Given the description of an element on the screen output the (x, y) to click on. 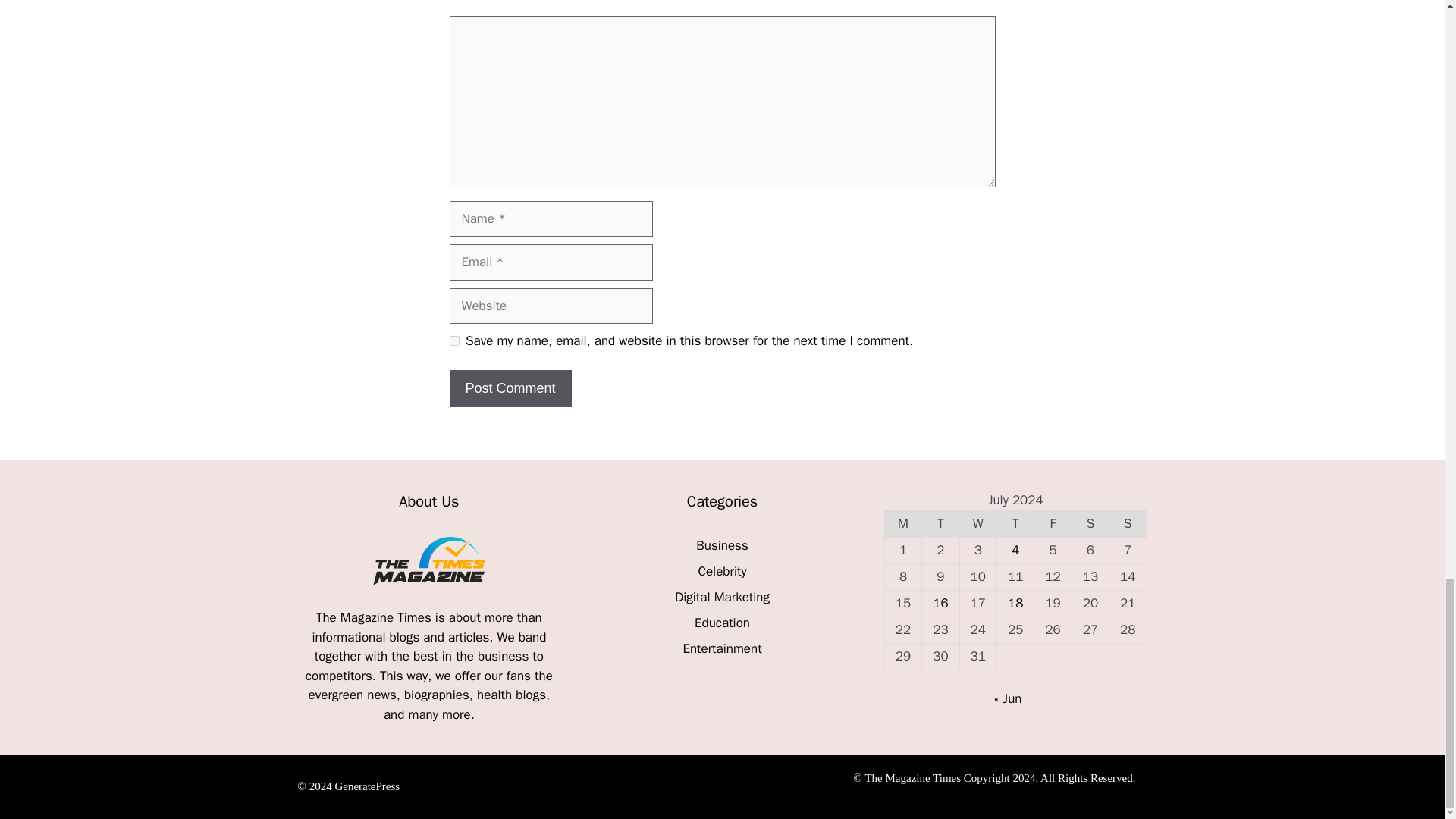
Post Comment (509, 388)
Monday (902, 523)
Tuesday (940, 523)
Sunday (1128, 523)
Celebrity (721, 571)
The Magazine Times  (375, 617)
Friday (1052, 523)
Wednesday (977, 523)
Saturday (1089, 523)
Thursday (1014, 523)
yes (453, 340)
Post Comment (509, 388)
Business (721, 545)
